Given the description of an element on the screen output the (x, y) to click on. 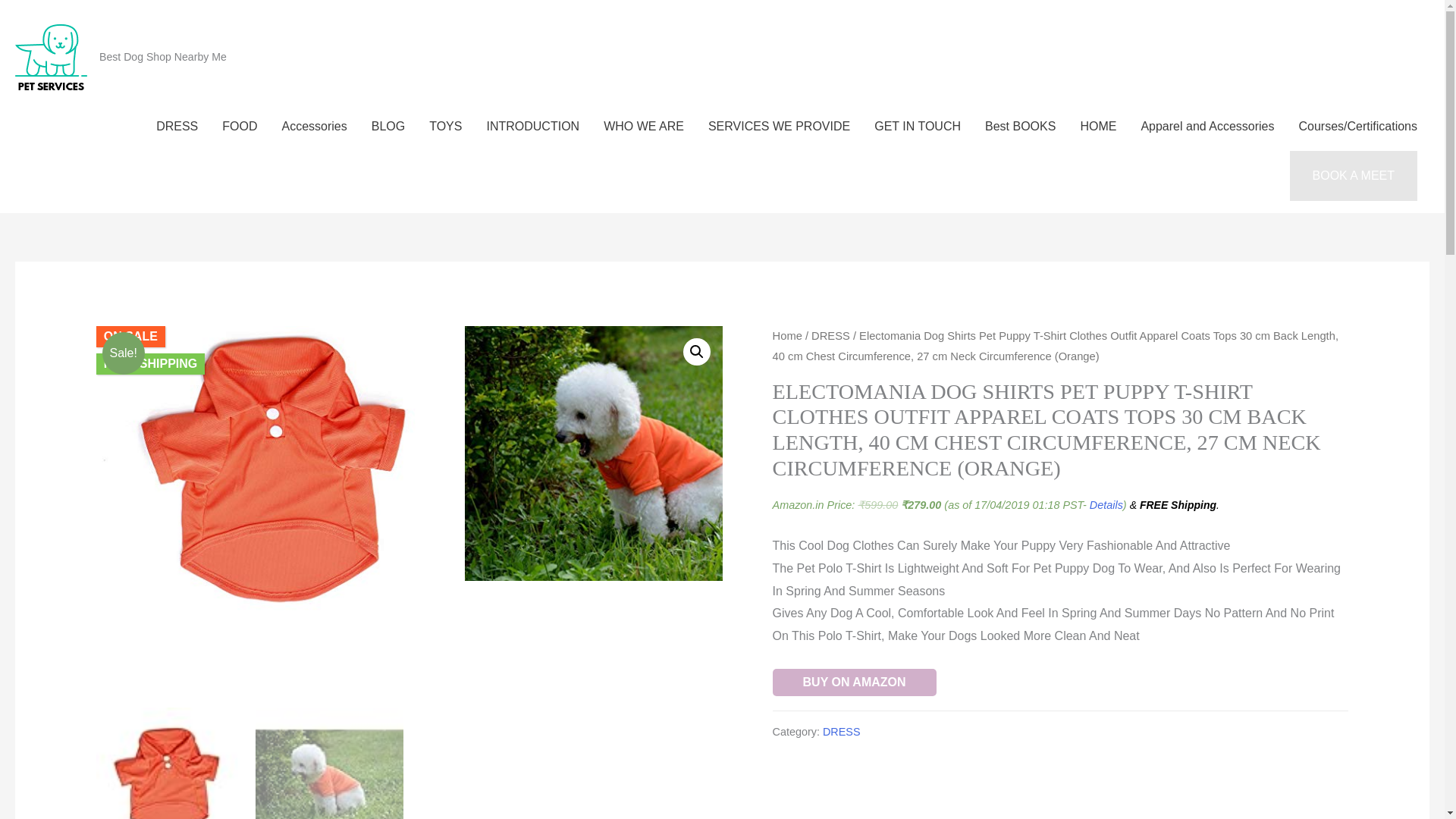
Apparel and Accessories (1206, 126)
SERVICES WE PROVIDE (778, 126)
FREE SHIPPING (150, 364)
BUY ON AMAZON (854, 682)
INTRODUCTION (532, 126)
BLOG (387, 126)
GET IN TOUCH (916, 126)
Accessories (313, 126)
Details (1105, 504)
DRESS (176, 126)
Best BOOKS (1019, 126)
Home (787, 336)
DRESS (830, 336)
